Given the description of an element on the screen output the (x, y) to click on. 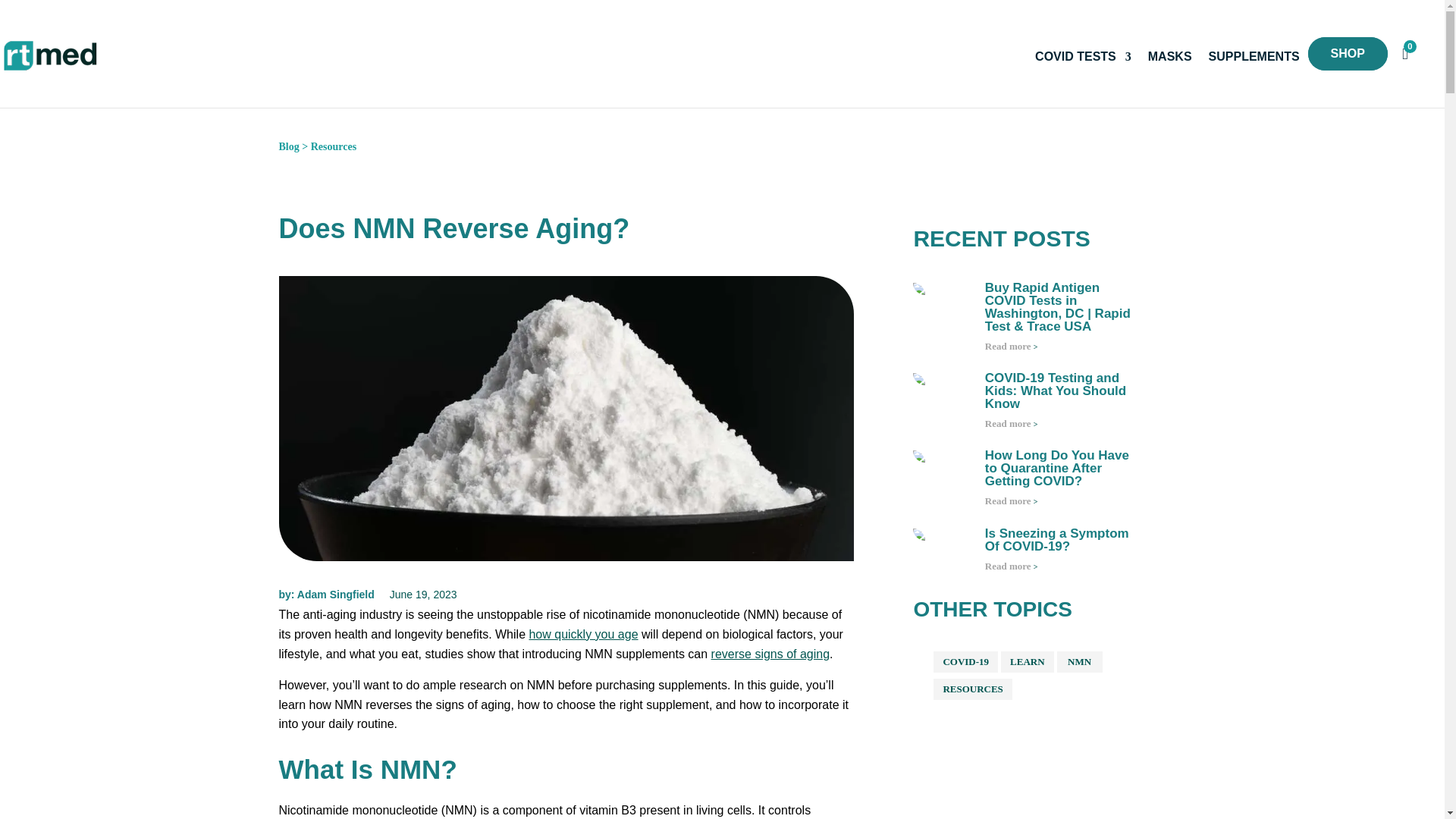
COVID TESTS (1083, 56)
SHOP (1347, 53)
reverse signs of aging (770, 653)
Blog (289, 146)
how quickly you age (582, 634)
RTMedLogo-1 (50, 53)
MASKS (1170, 56)
SUPPLEMENTS (1254, 56)
